Given the description of an element on the screen output the (x, y) to click on. 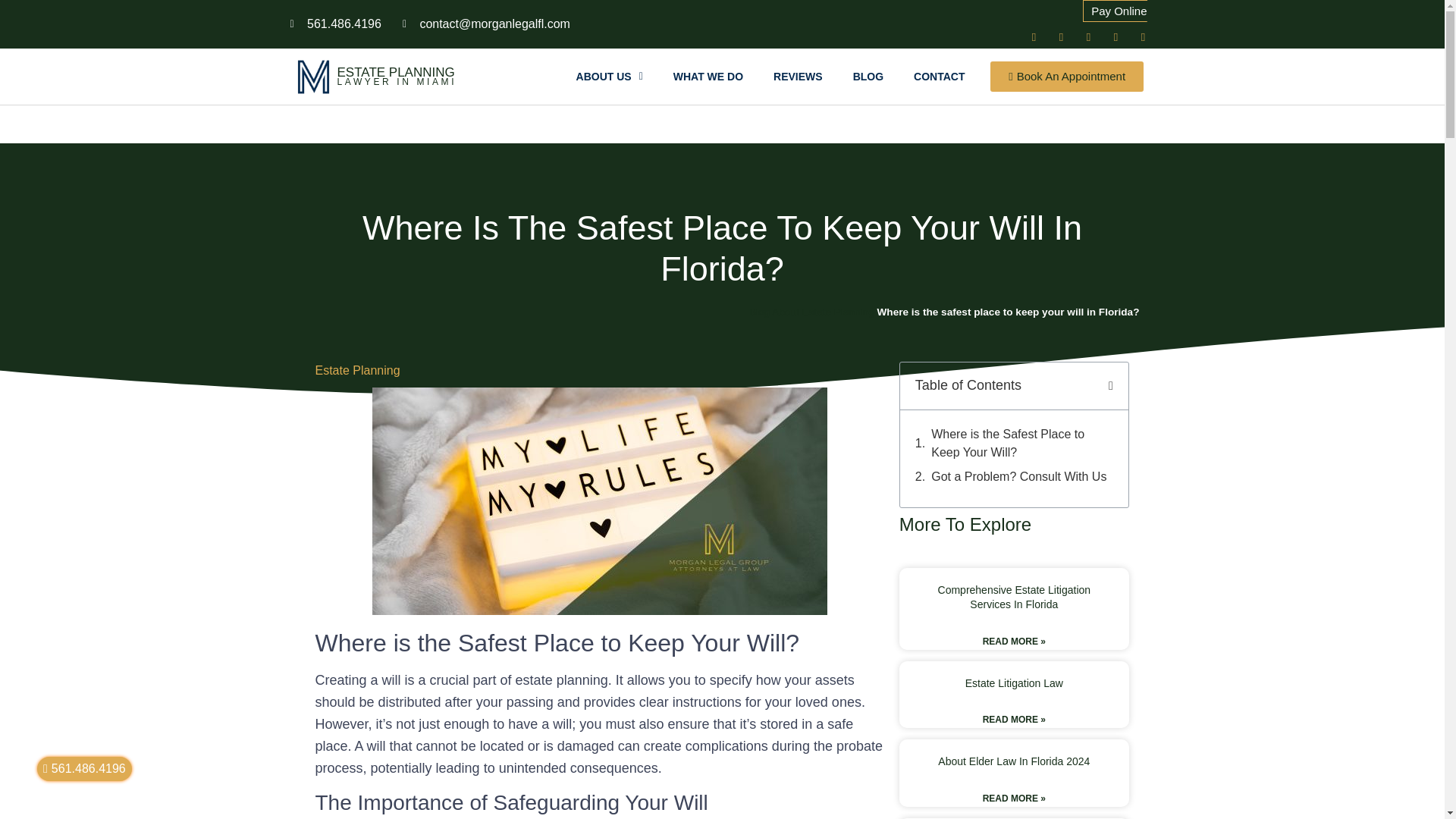
LAWYER IN MIAMI (396, 81)
Estate Planning (357, 369)
Where is the Safest Place to Keep Your Will? (1022, 443)
BLOG (868, 76)
561.486.4196 (84, 768)
About Elder Law In Florida 2024 (1013, 761)
ESTATE PLANNING (395, 72)
ABOUT US (609, 76)
REVIEWS (798, 76)
Pay Online (1115, 31)
